Given the description of an element on the screen output the (x, y) to click on. 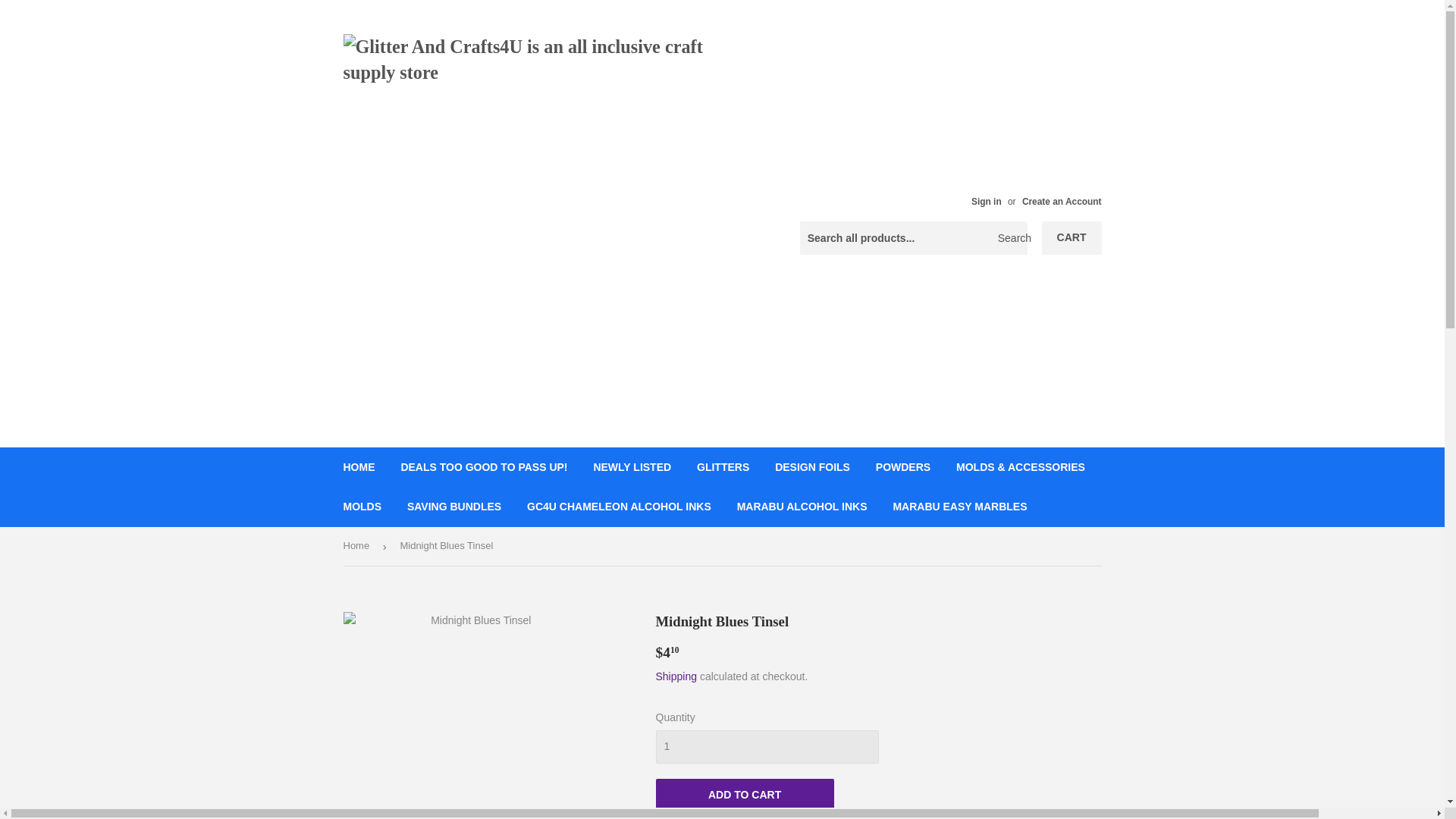
Sign in (986, 201)
Create an Account (1062, 201)
1 (766, 746)
CART (1072, 237)
Search (1009, 238)
